Given the description of an element on the screen output the (x, y) to click on. 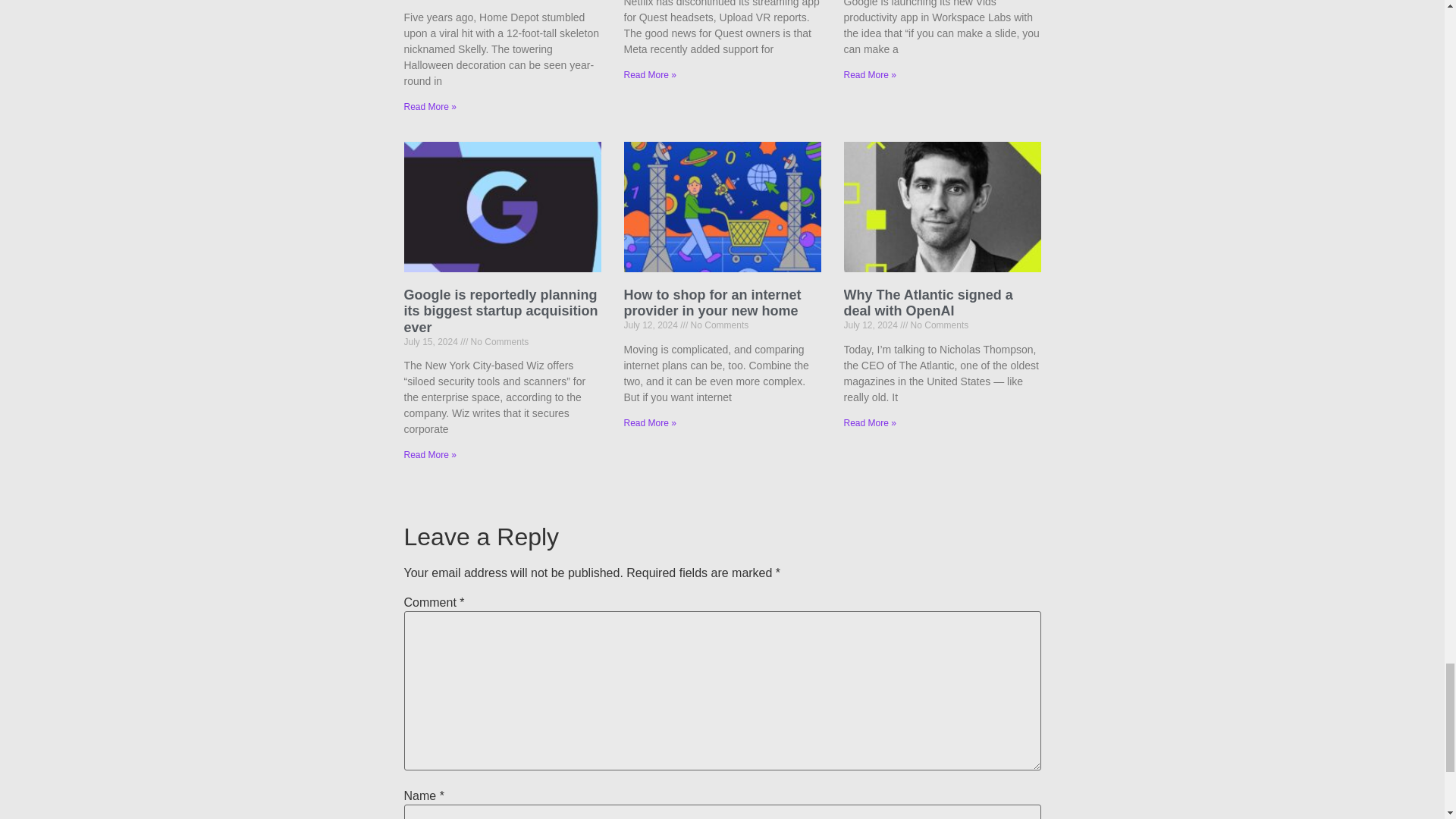
Why The Atlantic signed a deal with OpenAI (927, 303)
How to shop for an internet provider in your new home (711, 303)
